Given the description of an element on the screen output the (x, y) to click on. 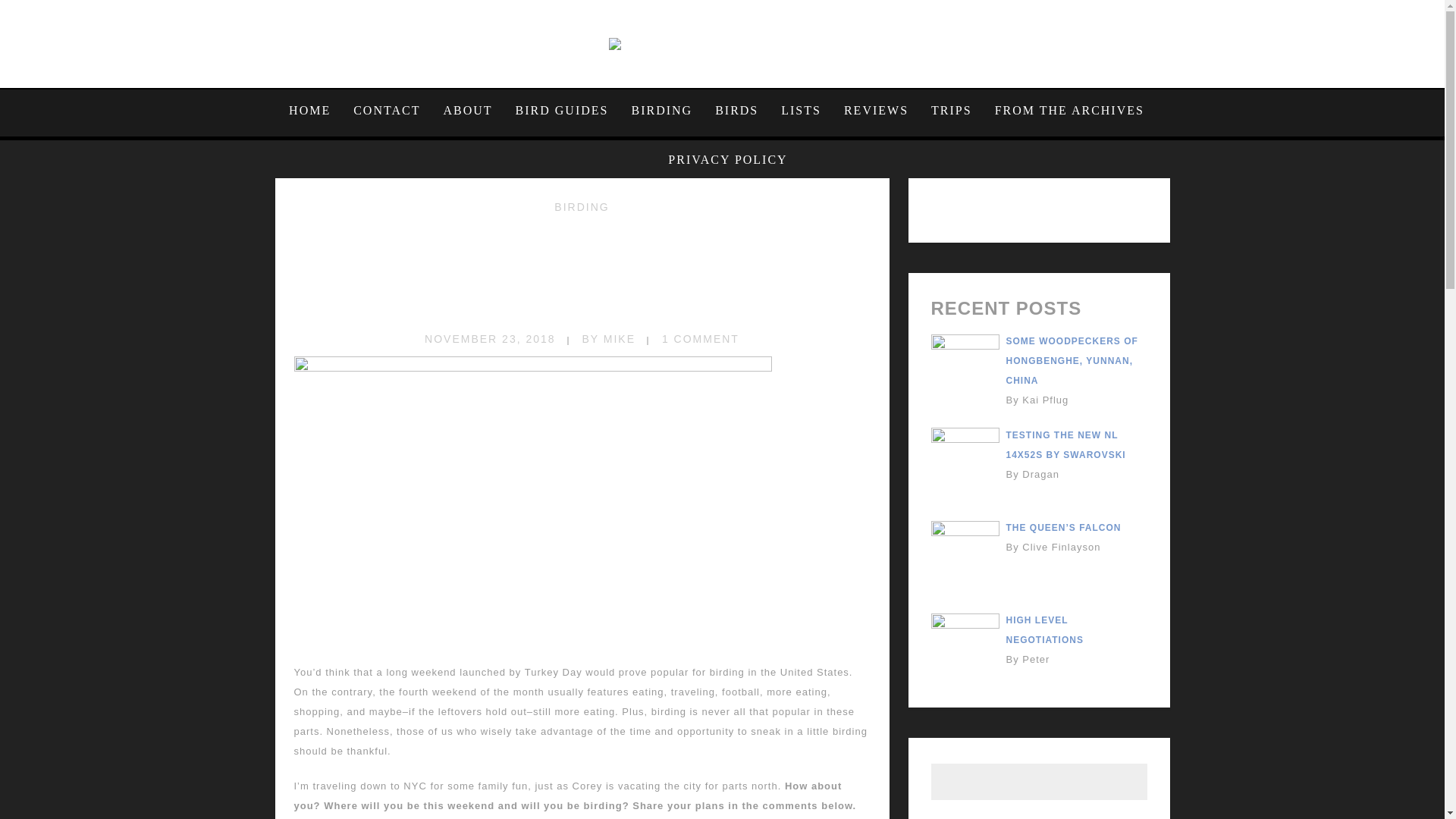
Where Are You Birding This Fourth Weekend of November 2018? (581, 273)
FROM THE ARCHIVES (1070, 110)
HOME (315, 110)
CONTACT (386, 110)
BIRDS (736, 110)
PRIVACY POLICY (721, 159)
1 COMMENT (700, 338)
BY MIKE (607, 338)
ABOUT (466, 110)
REVIEWS (876, 110)
